Given the description of an element on the screen output the (x, y) to click on. 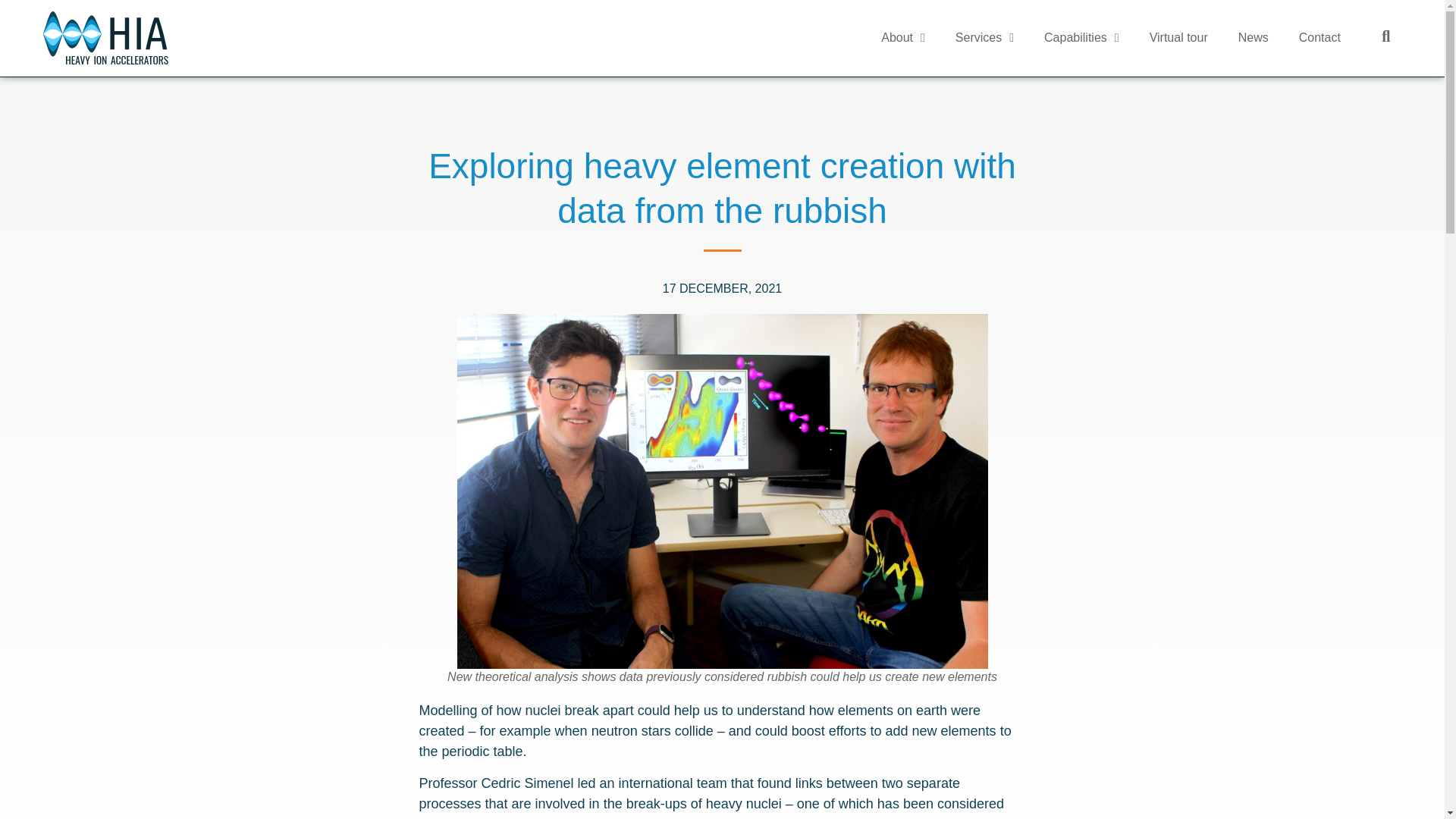
About (903, 38)
Services (984, 38)
Virtual tour (1178, 38)
Contact (1319, 38)
News (1253, 38)
Capabilities (1081, 38)
